Given the description of an element on the screen output the (x, y) to click on. 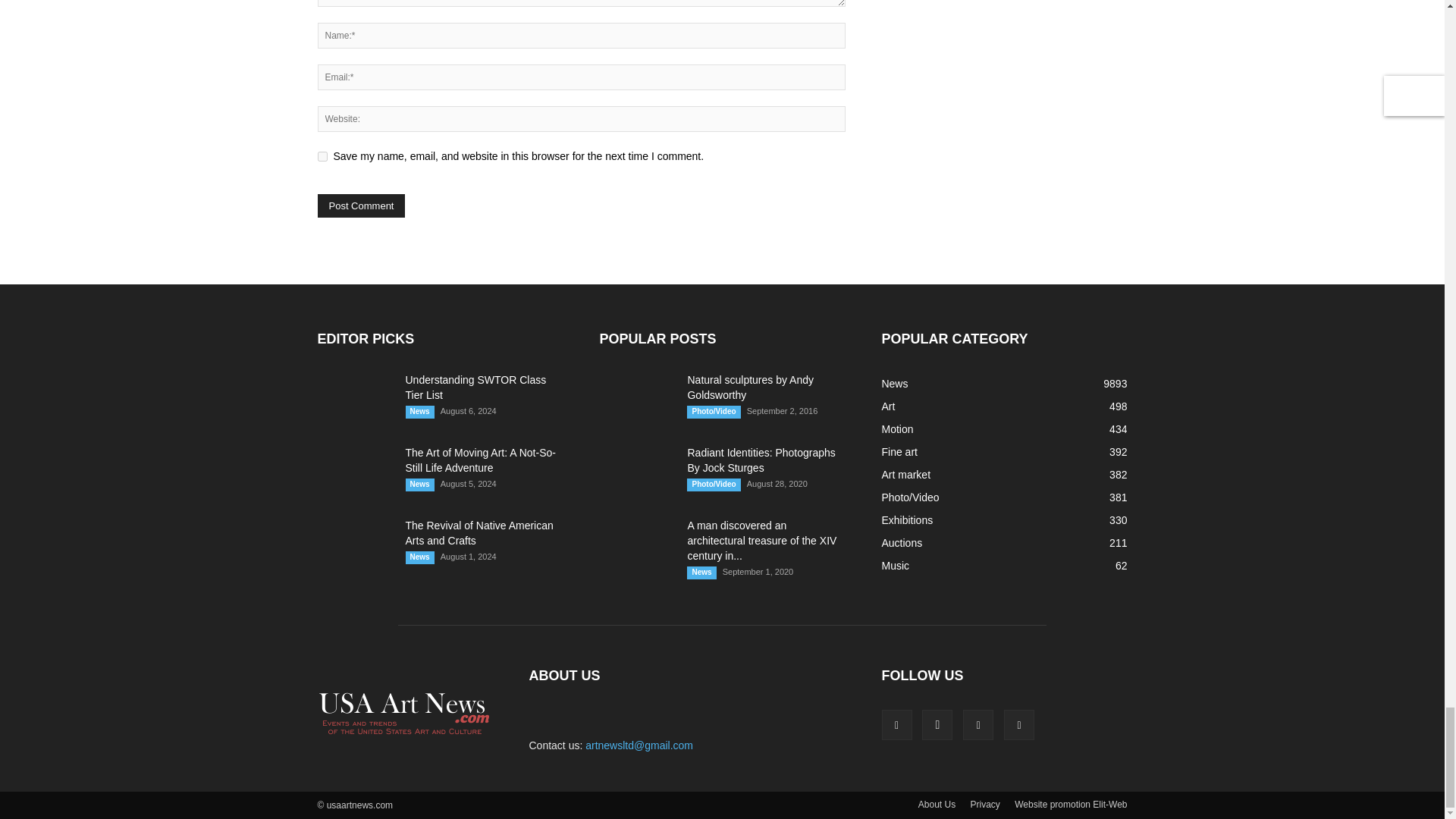
yes (321, 156)
Post Comment (360, 205)
